Given the description of an element on the screen output the (x, y) to click on. 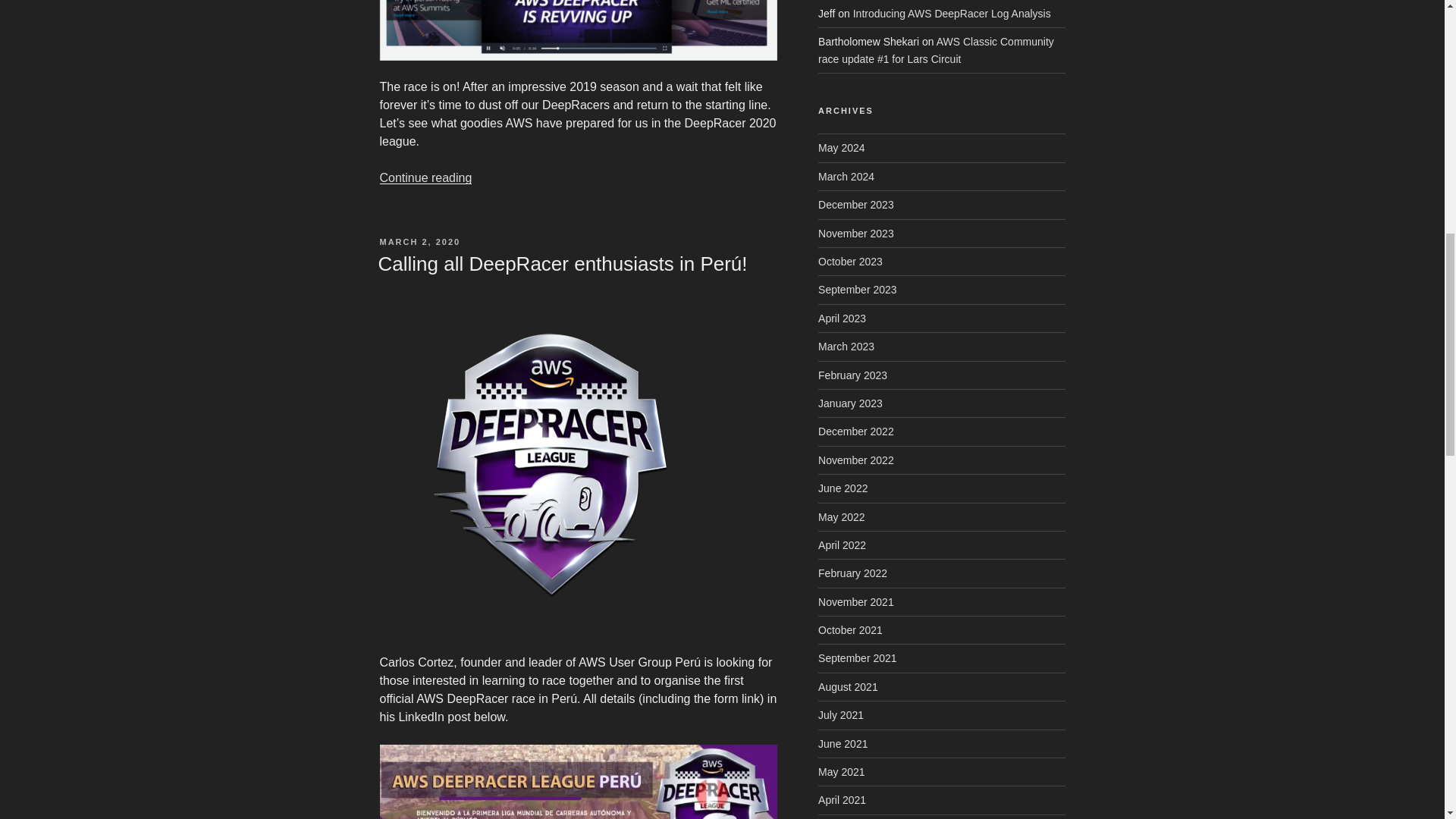
March 2023 (846, 346)
MARCH 2, 2020 (419, 241)
September 2023 (857, 289)
November 2023 (855, 233)
October 2023 (850, 261)
January 2023 (850, 403)
December 2023 (855, 204)
March 2024 (846, 176)
Introducing AWS DeepRacer Log Analysis (952, 13)
April 2023 (842, 318)
